Given the description of an element on the screen output the (x, y) to click on. 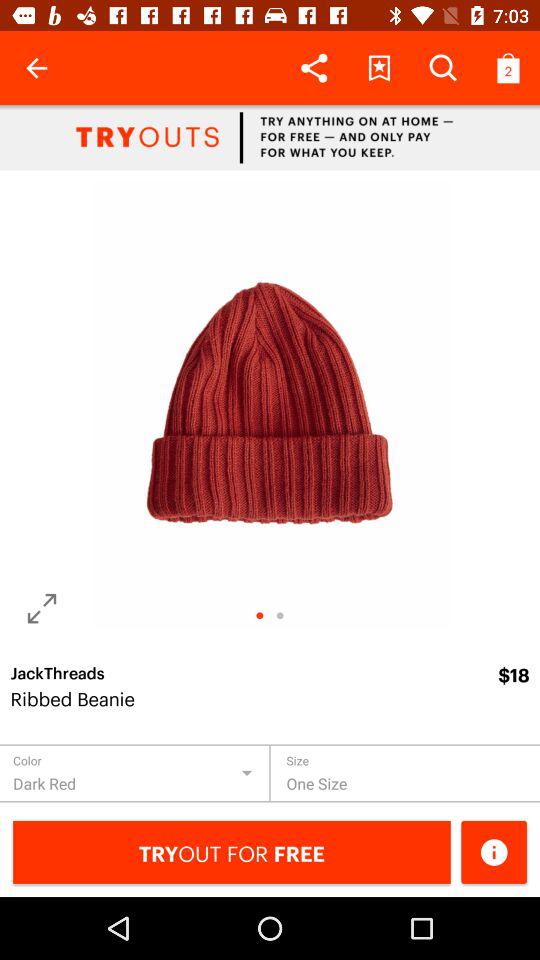
advertisement (270, 137)
